Given the description of an element on the screen output the (x, y) to click on. 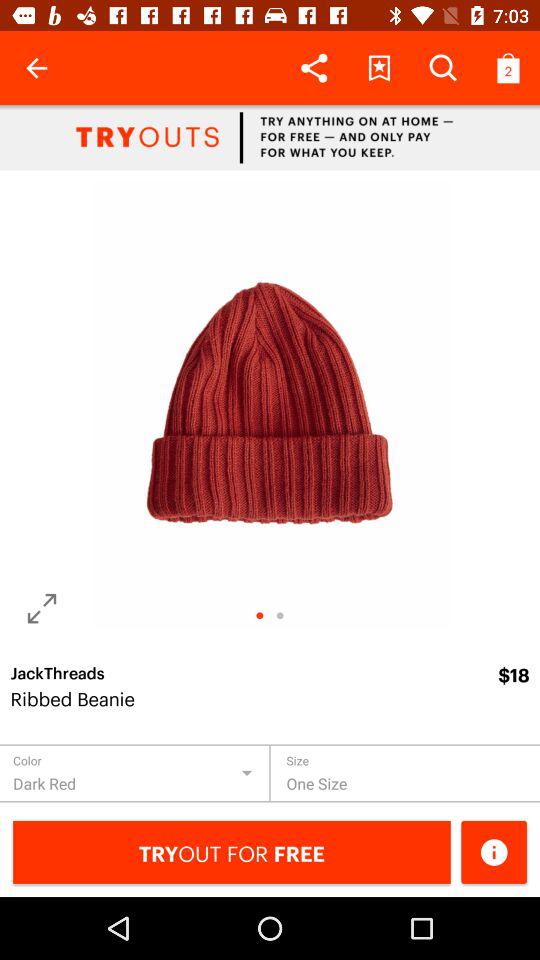
advertisement (270, 137)
